Given the description of an element on the screen output the (x, y) to click on. 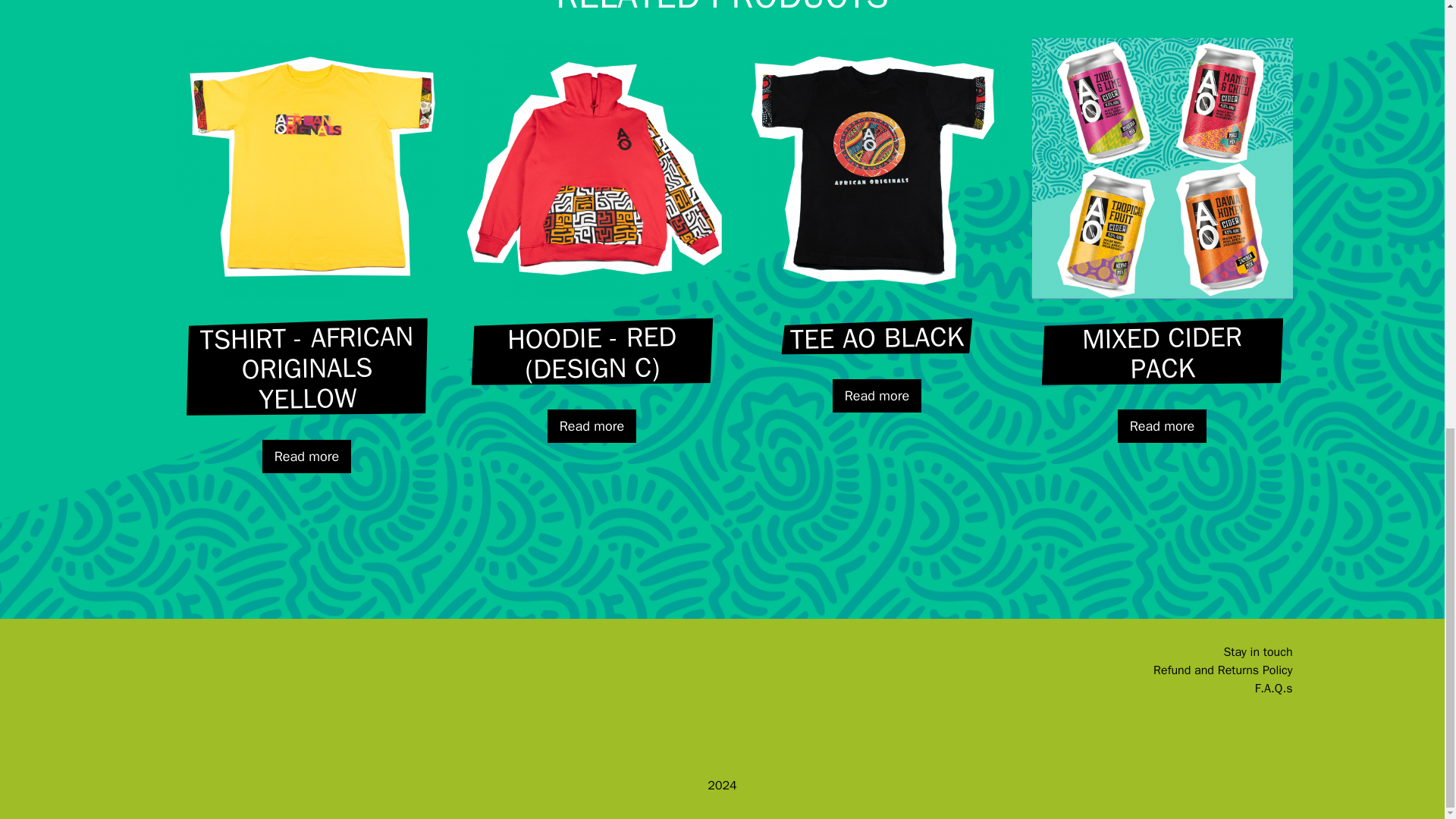
F.A.Q.s (1273, 688)
Read more (592, 426)
Read more (876, 395)
Refund and Returns Policy (1222, 670)
Stay in touch (1257, 652)
Read more (307, 456)
Read more (1162, 426)
